Given the description of an element on the screen output the (x, y) to click on. 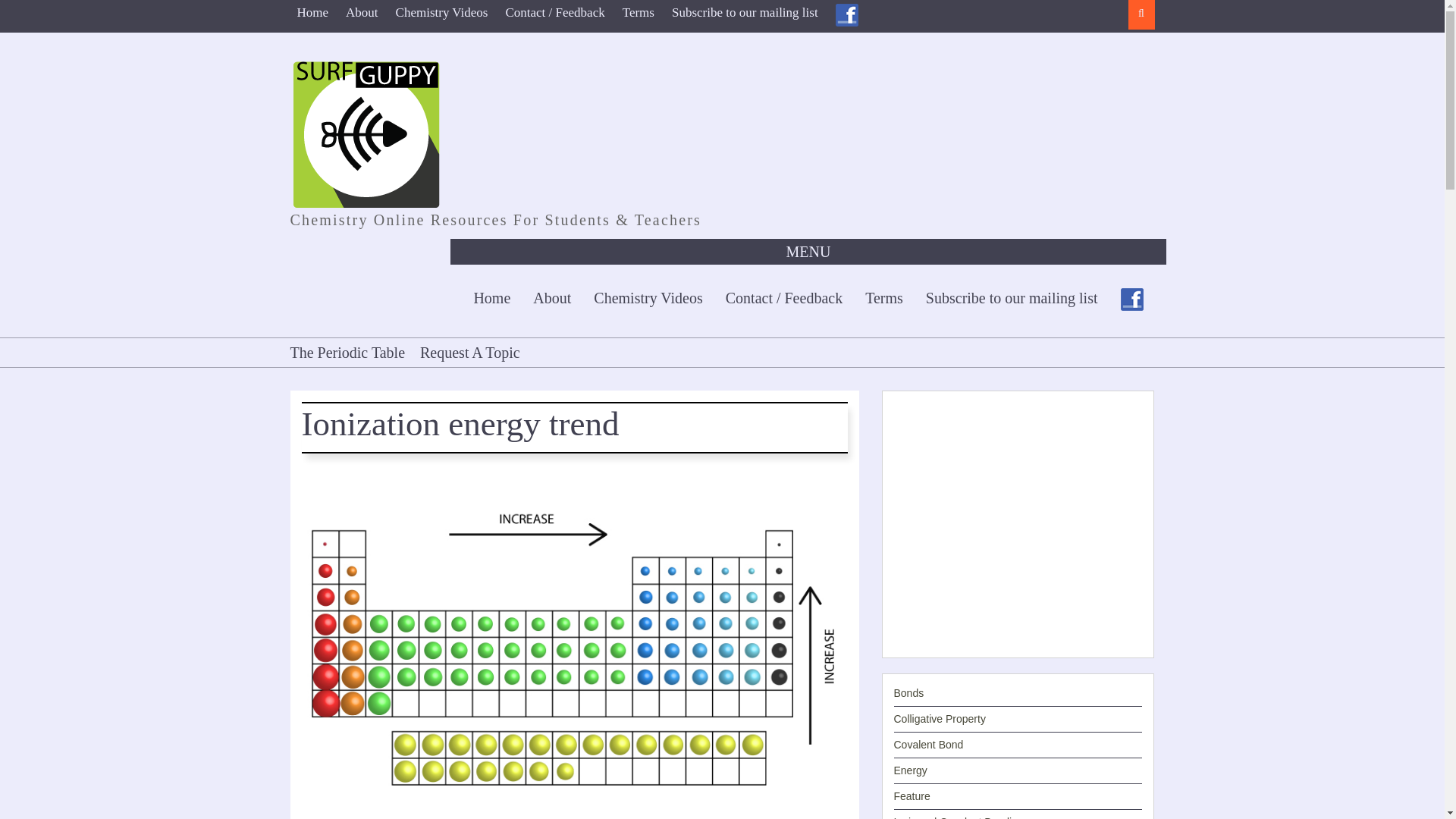
Terms (883, 298)
Terms (638, 11)
The Periodic Table (350, 352)
Request A Topic (469, 352)
Subscribe to our mailing list (1011, 298)
Subscribe to our mailing list (744, 11)
Home (313, 11)
Chemistry Videos (441, 11)
About (362, 11)
Chemistry Videos (647, 298)
